Given the description of an element on the screen output the (x, y) to click on. 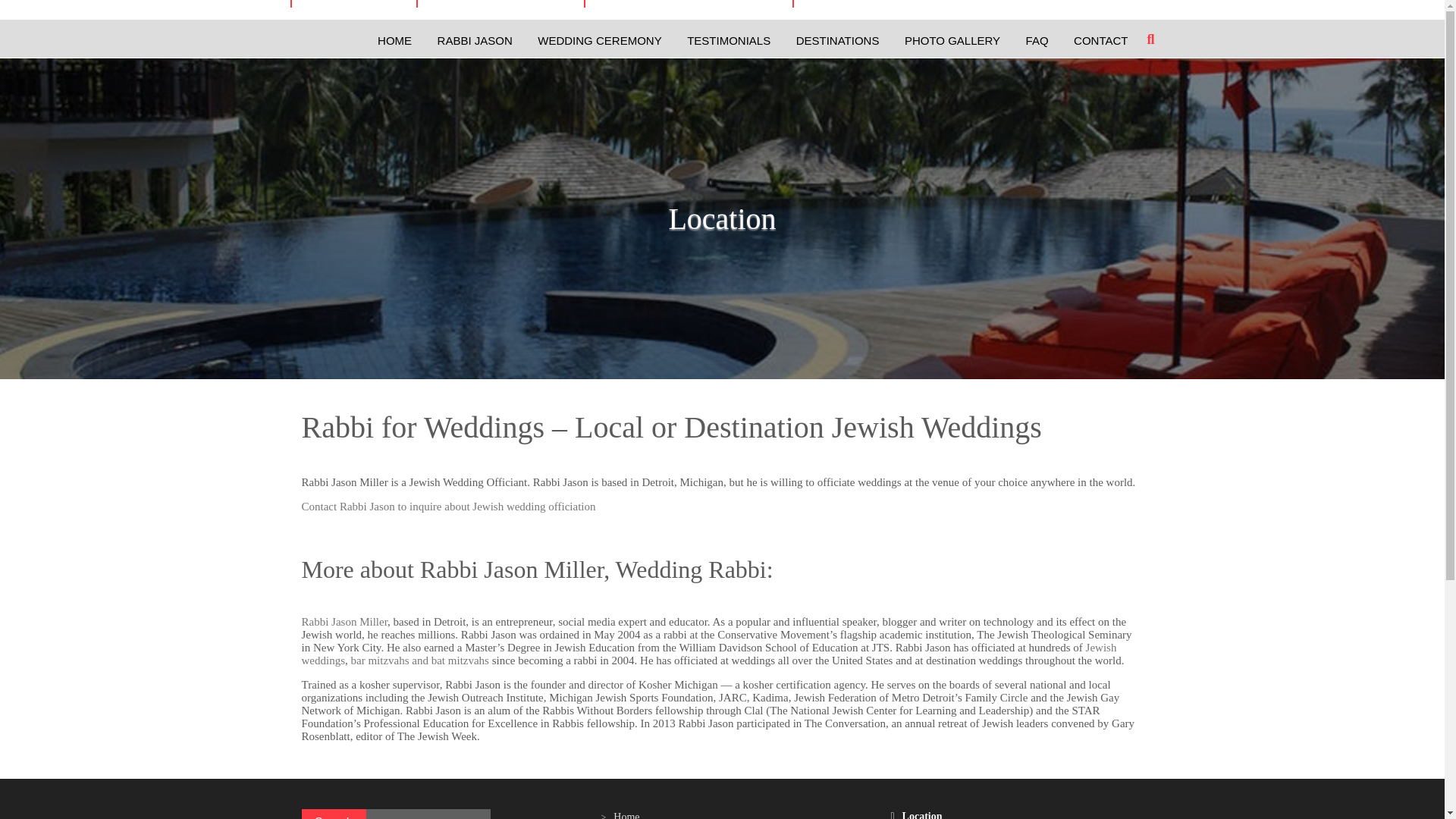
PHOTO GALLERY (952, 40)
TESTIMONIALS (728, 40)
bar mitzvahs and bat mitzvahs (418, 660)
Search (333, 814)
HOME (394, 40)
Rabbi Jason Miller (344, 621)
Jewish weddings (708, 653)
FAQ (1036, 40)
CONTACT (1100, 40)
DESTINATIONS (837, 40)
RABBI JASON (475, 40)
Search (333, 814)
Jewish Weddings (598, 40)
Search (333, 814)
WEDDING CEREMONY (598, 40)
